Given the description of an element on the screen output the (x, y) to click on. 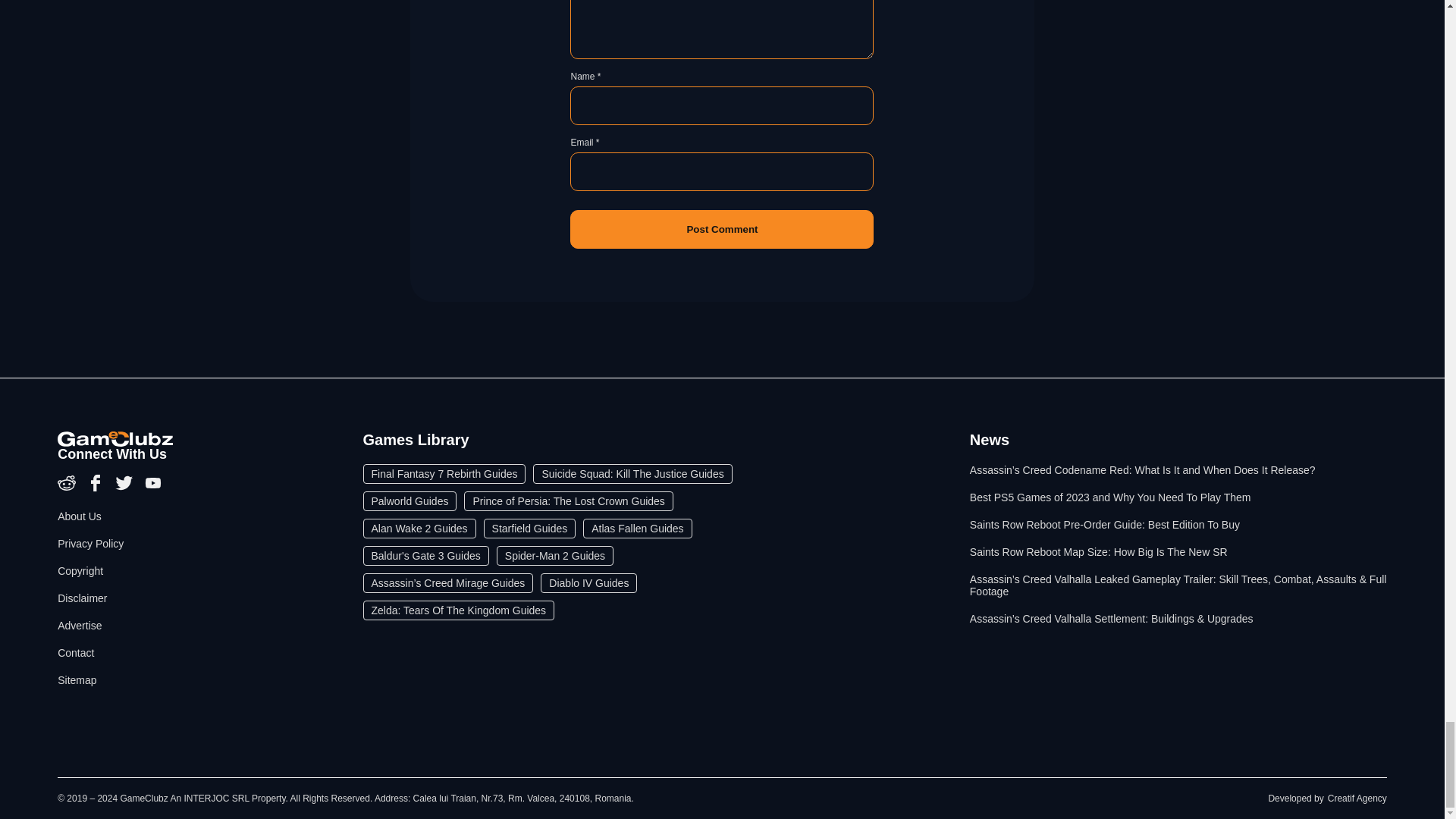
Creatif Agency web design (1357, 798)
Post Comment (721, 228)
Post Comment (721, 228)
facebook (96, 488)
youtube (152, 488)
twitter (125, 488)
instagram (68, 488)
